Given the description of an element on the screen output the (x, y) to click on. 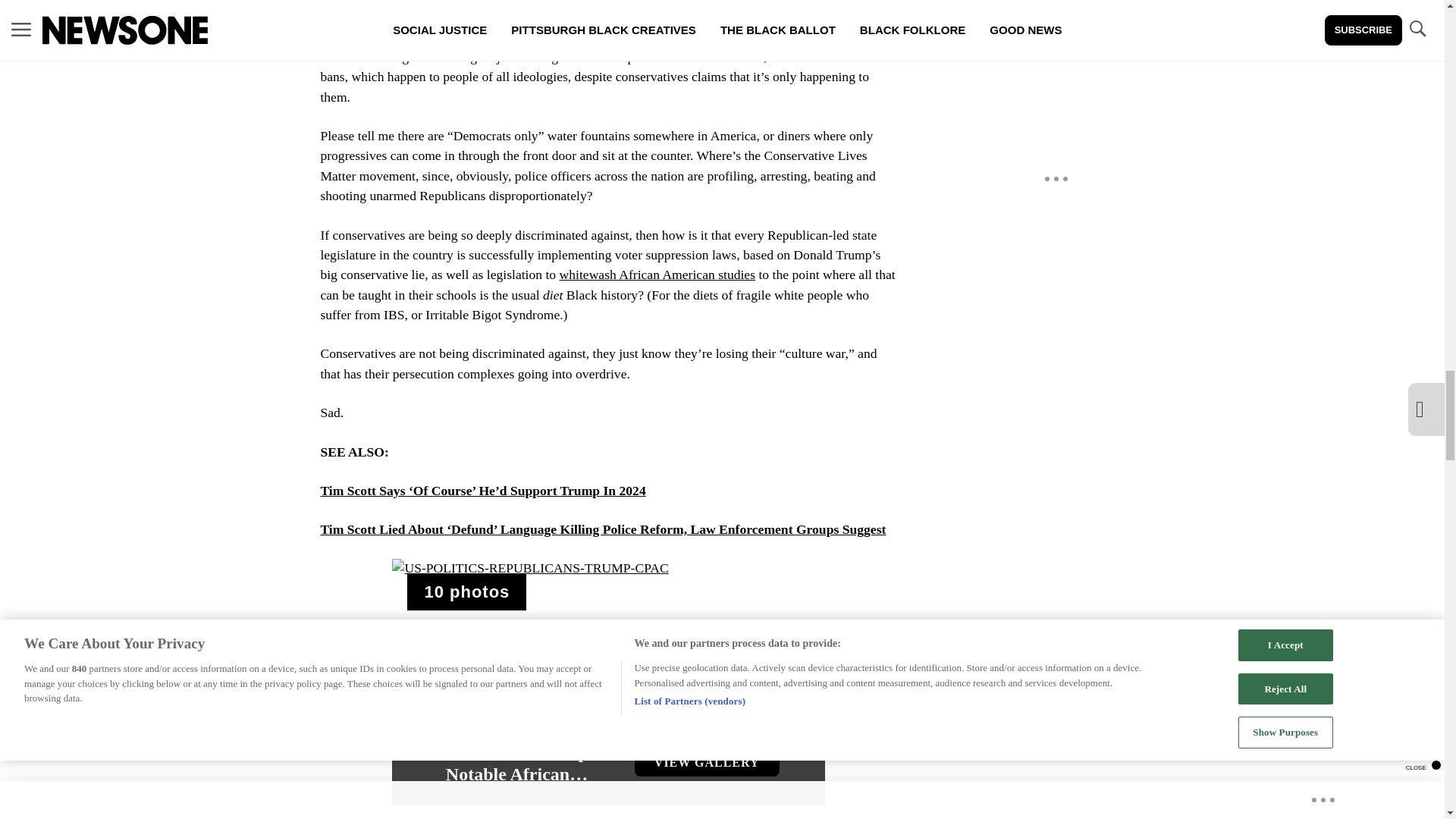
Media Playlist (466, 592)
whitewash African American studies (657, 273)
